Given the description of an element on the screen output the (x, y) to click on. 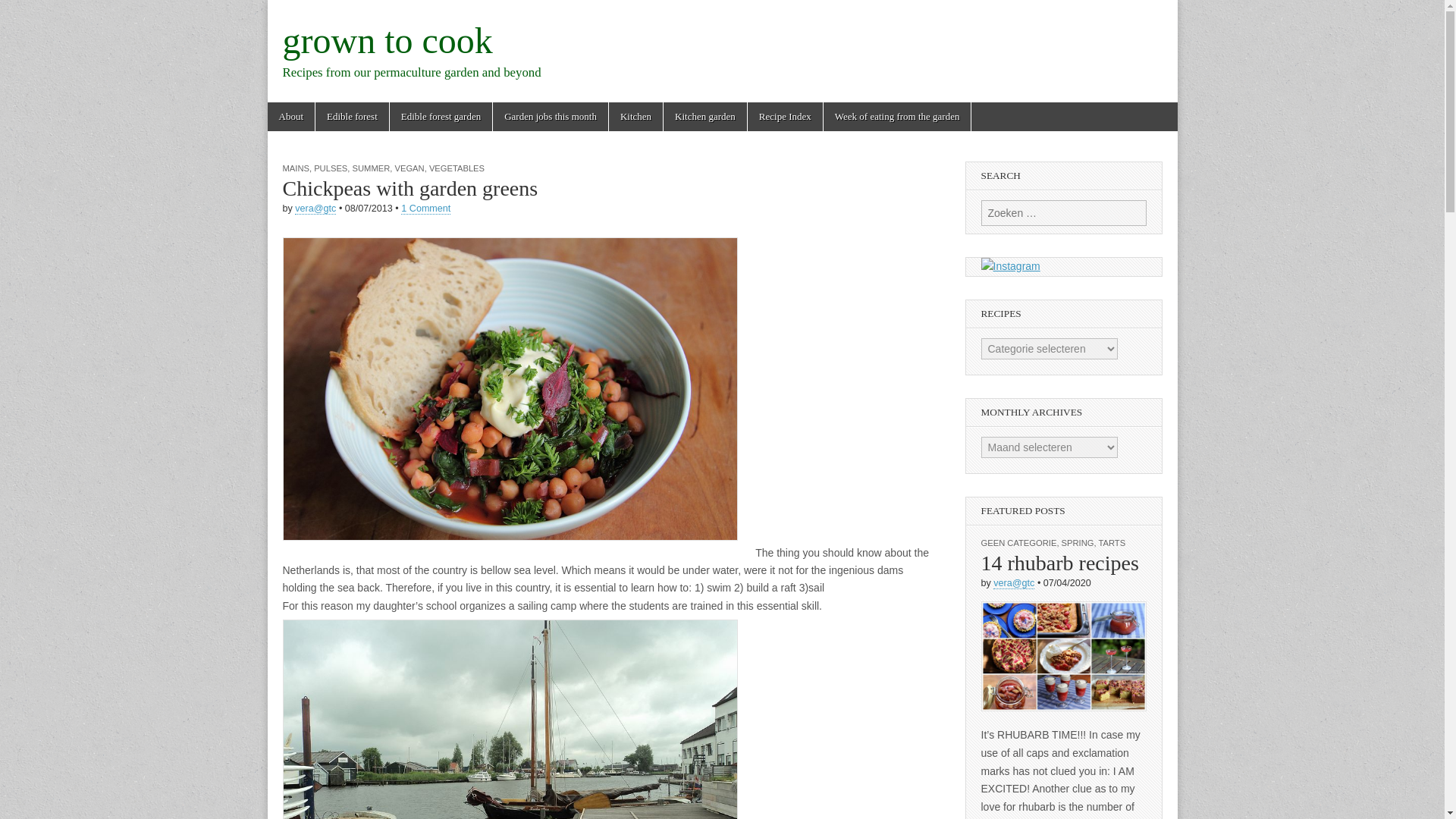
Edible forest garden (441, 116)
Kitchen (635, 116)
SUMMER (371, 167)
Recipe Index (785, 116)
About (290, 116)
grown to cook (387, 40)
TARTS (1112, 542)
Zoeken (24, 12)
